Given the description of an element on the screen output the (x, y) to click on. 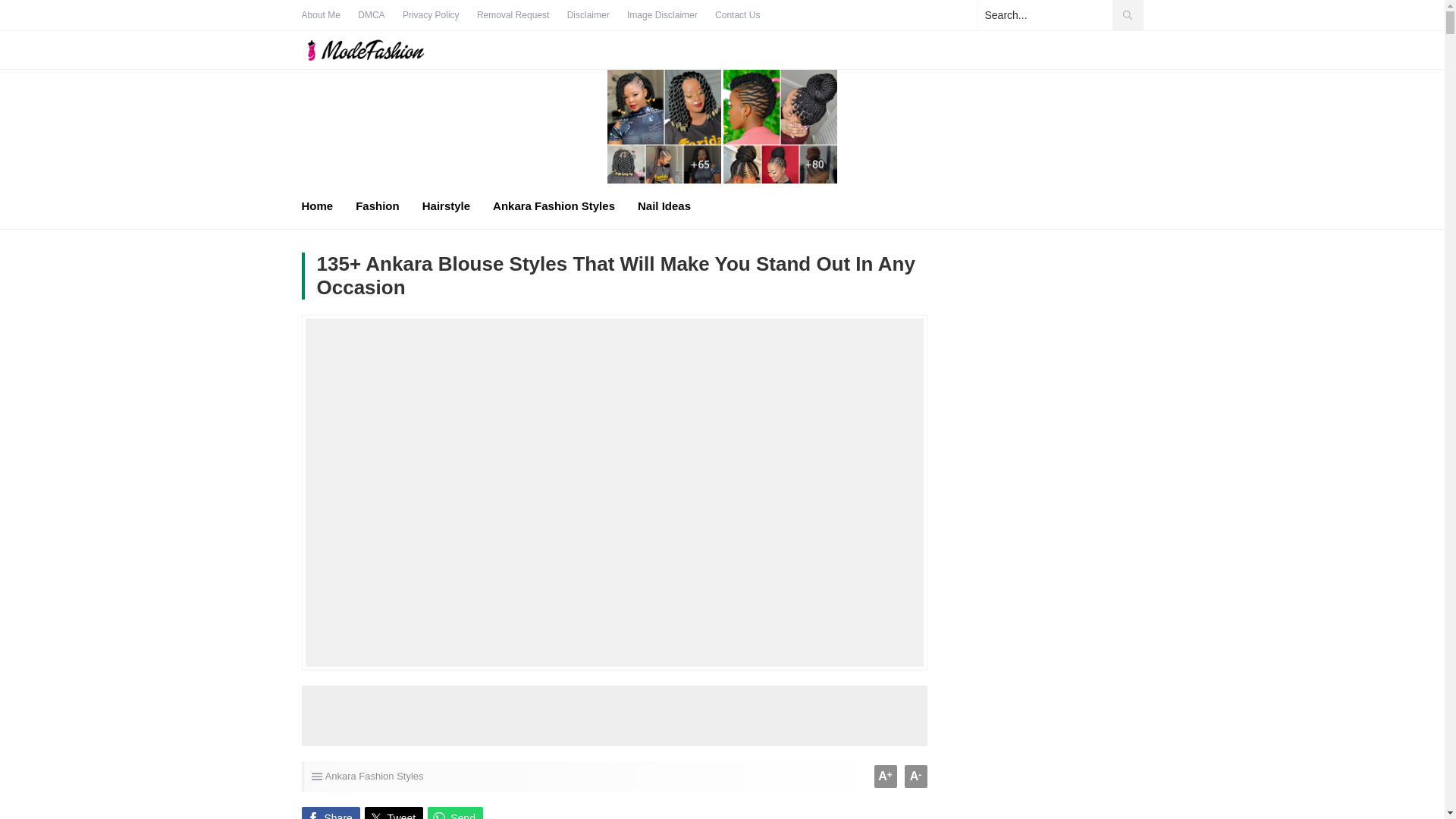
Send (455, 812)
Removal Request (512, 14)
Fashion (376, 206)
DMCA (371, 14)
Ankara Fashion Styles (553, 206)
Ankara Fashion Styles (373, 776)
Fashion Lifestyle Trends (381, 49)
About Me (320, 14)
Share on Twitter (394, 812)
Image Disclaimer (662, 14)
Search... (1058, 15)
Share (330, 812)
Hairstyle (446, 206)
Contact Us (737, 14)
Disclaimer (588, 14)
